Given the description of an element on the screen output the (x, y) to click on. 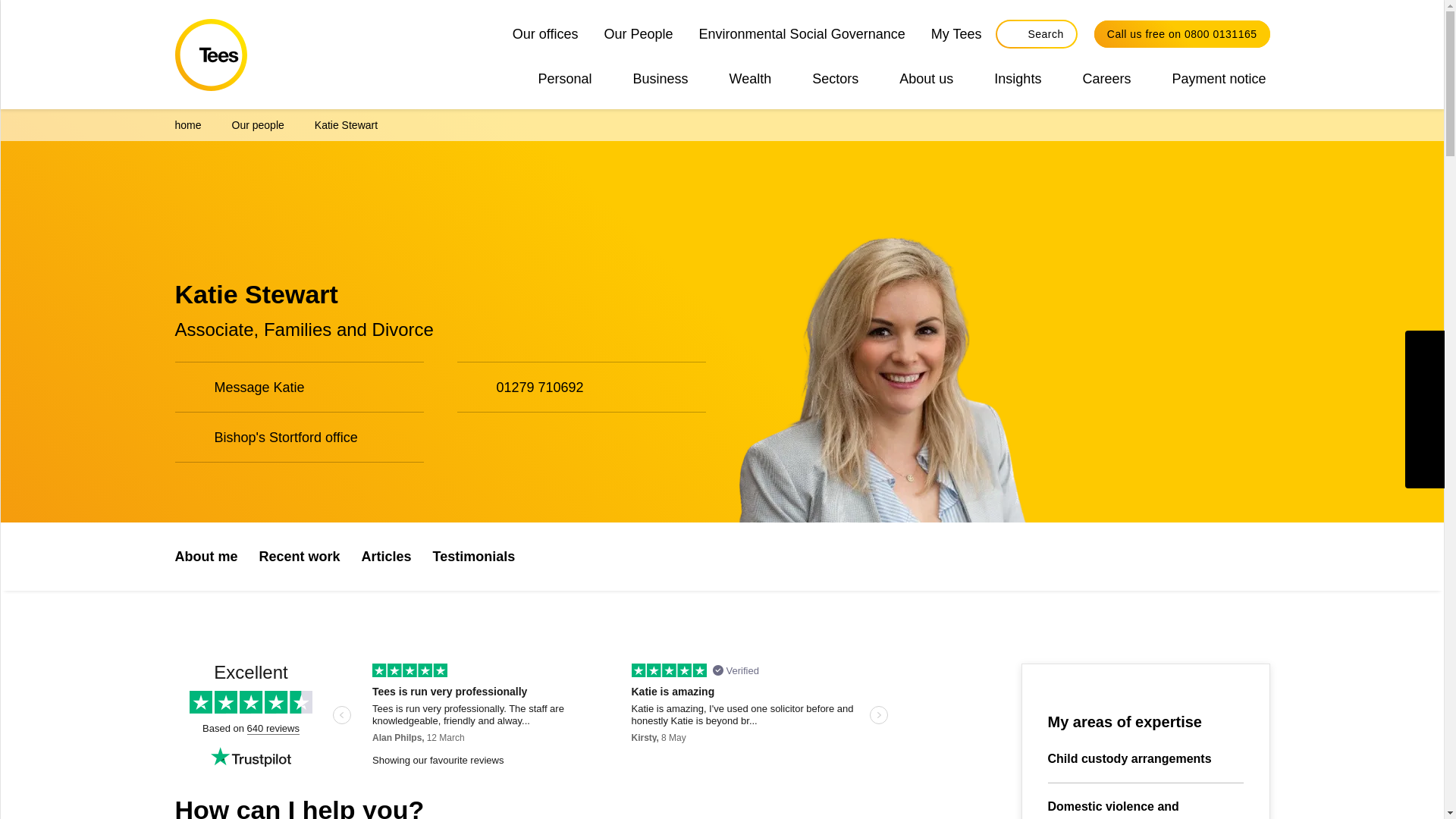
Customer reviews powered by Trustpilot (533, 716)
Our offices (545, 33)
Our People (638, 33)
My Tees (956, 33)
Personal (564, 78)
Environmental Social Governance (801, 33)
Business (660, 78)
Call us free on 0800 0131165 (1181, 33)
Wealth (750, 78)
